Given the description of an element on the screen output the (x, y) to click on. 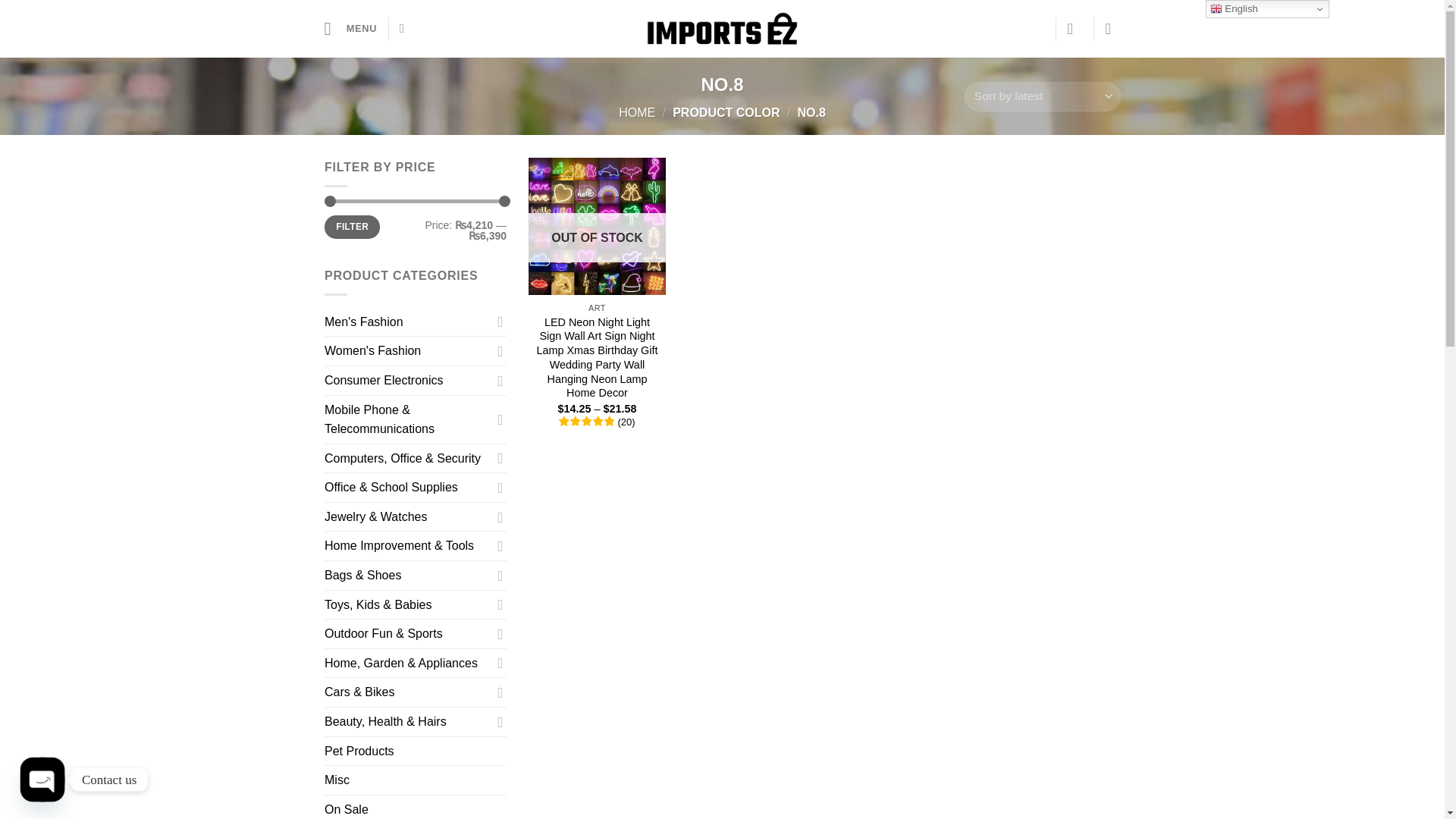
Men's Fashion (407, 321)
Women's Fashion (407, 351)
ImportsEZ - Online Shopping Store for Quality Products (721, 28)
MENU (350, 27)
HOME (636, 112)
FILTER (352, 227)
